Given the description of an element on the screen output the (x, y) to click on. 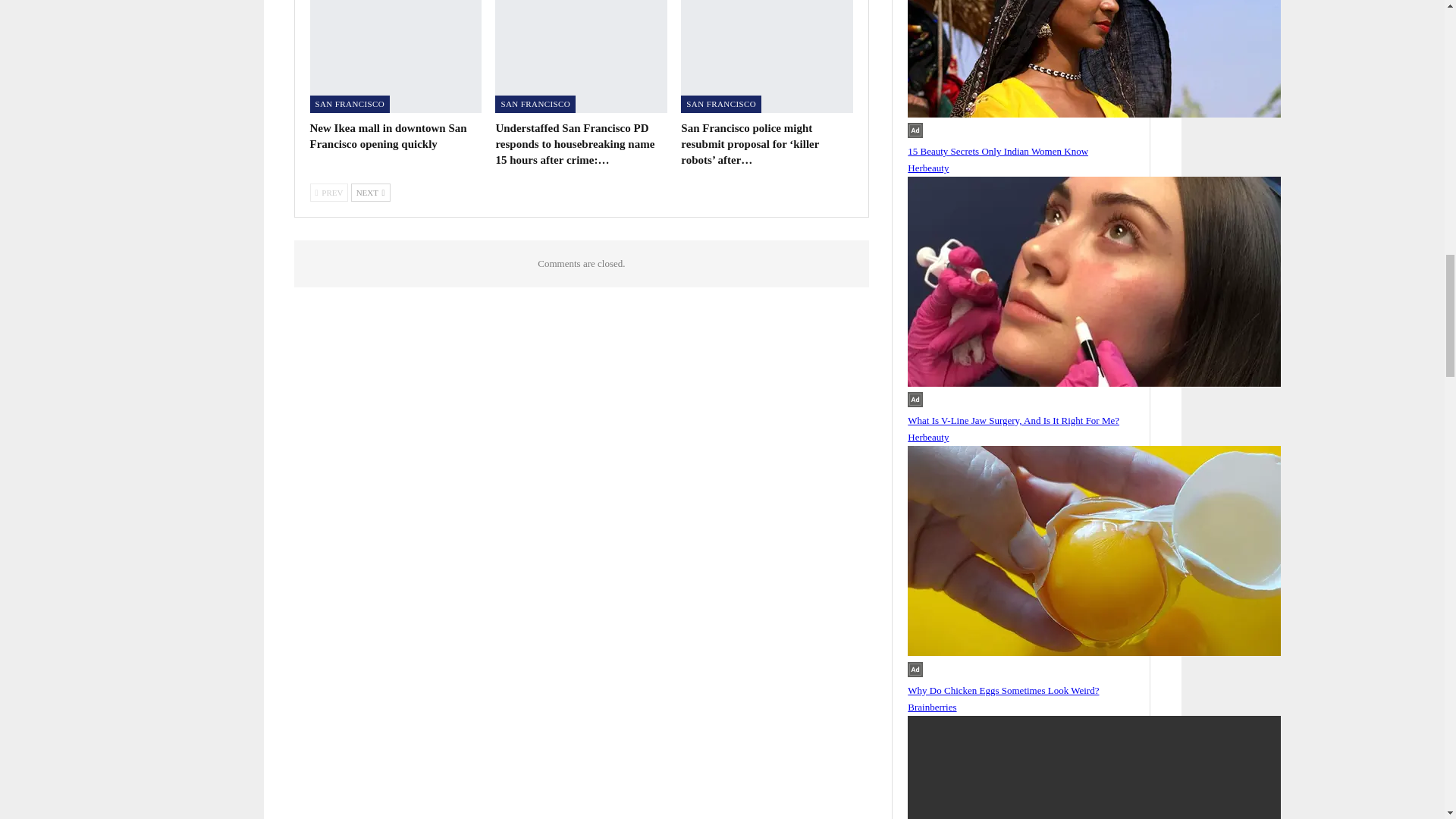
Previous (327, 192)
SAN FRANCISCO (349, 104)
New Ikea mall in downtown San Francisco opening quickly (394, 56)
New Ikea mall in downtown San Francisco opening quickly (386, 135)
Next (370, 192)
